Given the description of an element on the screen output the (x, y) to click on. 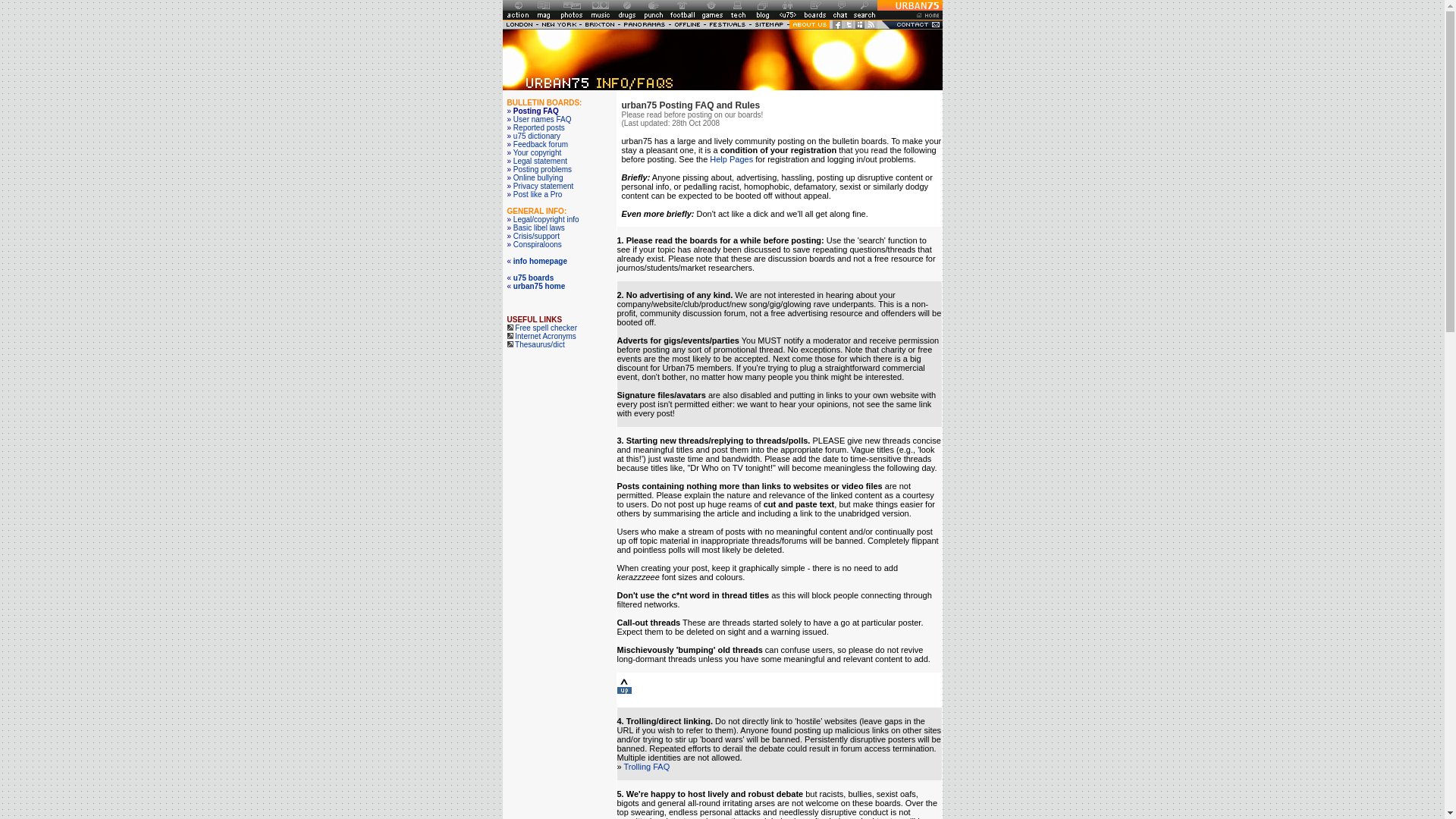
Privacy statement (543, 185)
Reported posts (538, 127)
Feedback forum (540, 144)
User names FAQ (542, 119)
Your copyright (537, 152)
Legal statement (540, 161)
u75 dictionary (536, 135)
Basic libel laws (538, 227)
Post like a Pro (537, 194)
Posting problems (542, 169)
Online bullying (538, 177)
